Given the description of an element on the screen output the (x, y) to click on. 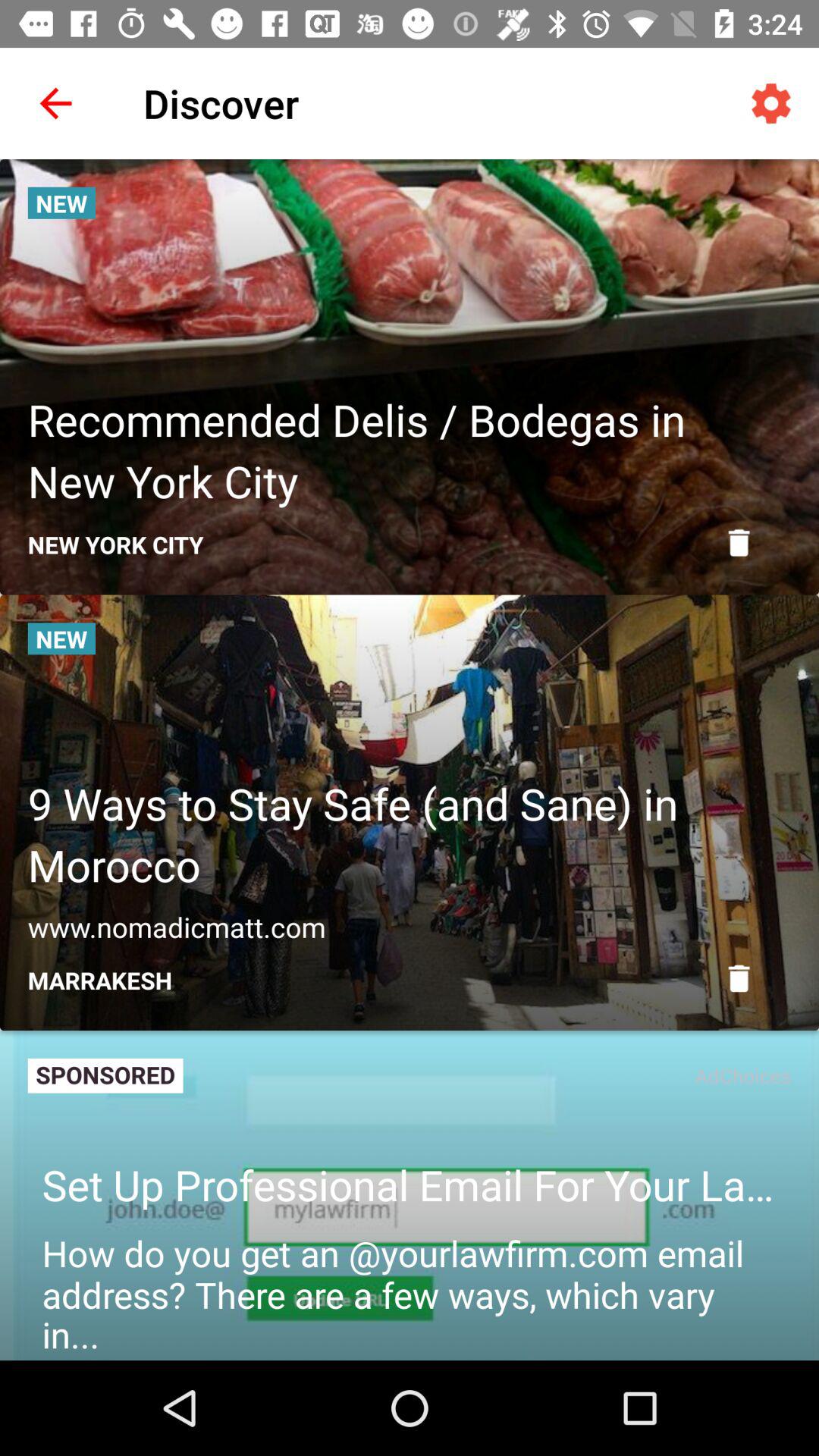
select icon at the top right corner (771, 103)
